Given the description of an element on the screen output the (x, y) to click on. 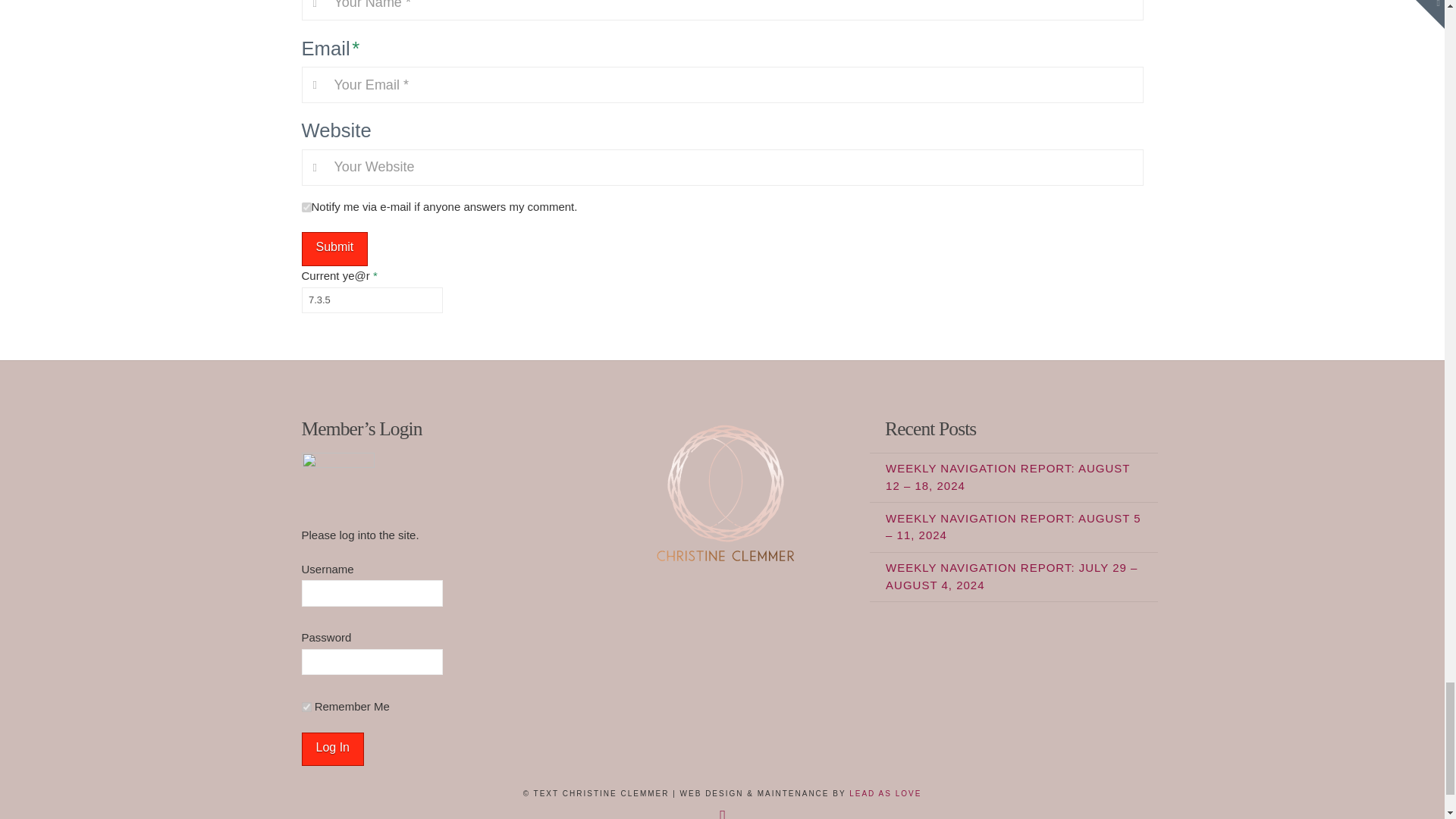
7.3.5 (372, 299)
Submit (334, 248)
LEAD AS LOVE (884, 793)
Submit (334, 248)
on (306, 207)
Log In (332, 749)
Log In (332, 749)
forever (306, 706)
